Given the description of an element on the screen output the (x, y) to click on. 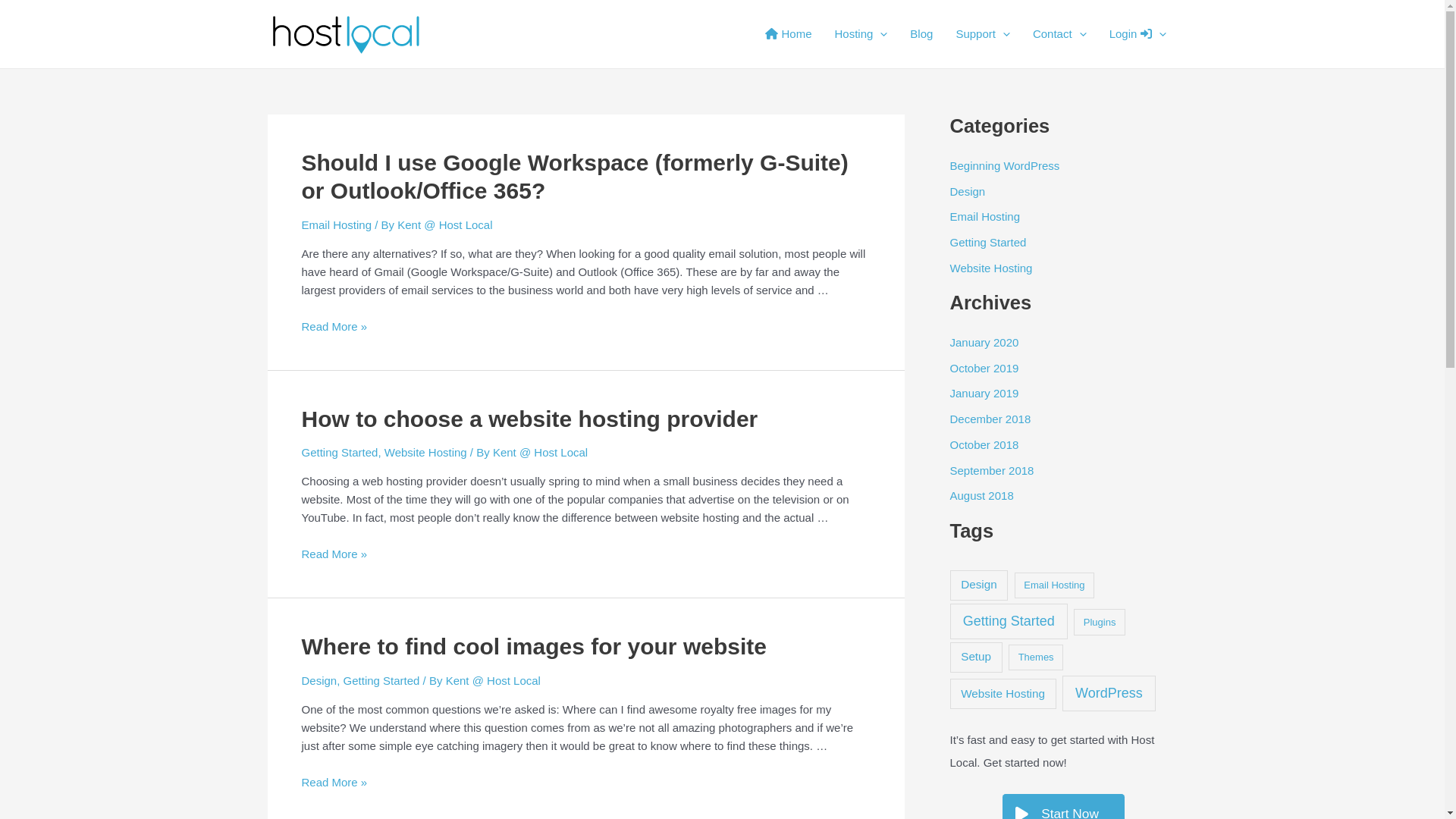
Getting Started Element type: text (339, 451)
Support Element type: text (982, 33)
October 2019 Element type: text (983, 367)
January 2019 Element type: text (983, 392)
Website Hosting Element type: text (990, 267)
Hosting Element type: text (860, 33)
Website Hosting Element type: text (1002, 693)
Kent @ Host Local Element type: text (492, 680)
Email Hosting Element type: text (1054, 585)
Home Element type: text (787, 33)
How to choose a website hosting provider Element type: text (529, 418)
Getting Started Element type: text (987, 241)
Getting Started Element type: text (381, 680)
Beginning WordPress Element type: text (1004, 165)
Email Hosting Element type: text (336, 224)
Design Element type: text (319, 680)
Email Hosting Element type: text (984, 216)
Getting Started Element type: text (1007, 621)
Kent @ Host Local Element type: text (444, 224)
WordPress Element type: text (1108, 693)
Setup Element type: text (975, 657)
Design Element type: text (978, 585)
August 2018 Element type: text (981, 495)
January 2020 Element type: text (983, 341)
Where to find cool images for your website Element type: text (533, 645)
Website Hosting Element type: text (425, 451)
Themes Element type: text (1035, 657)
December 2018 Element type: text (989, 418)
Blog Element type: text (921, 33)
October 2018 Element type: text (983, 444)
Contact Element type: text (1059, 33)
Design Element type: text (967, 191)
September 2018 Element type: text (991, 470)
Plugins Element type: text (1099, 621)
Kent @ Host Local Element type: text (539, 451)
Login Element type: text (1137, 33)
